Given the description of an element on the screen output the (x, y) to click on. 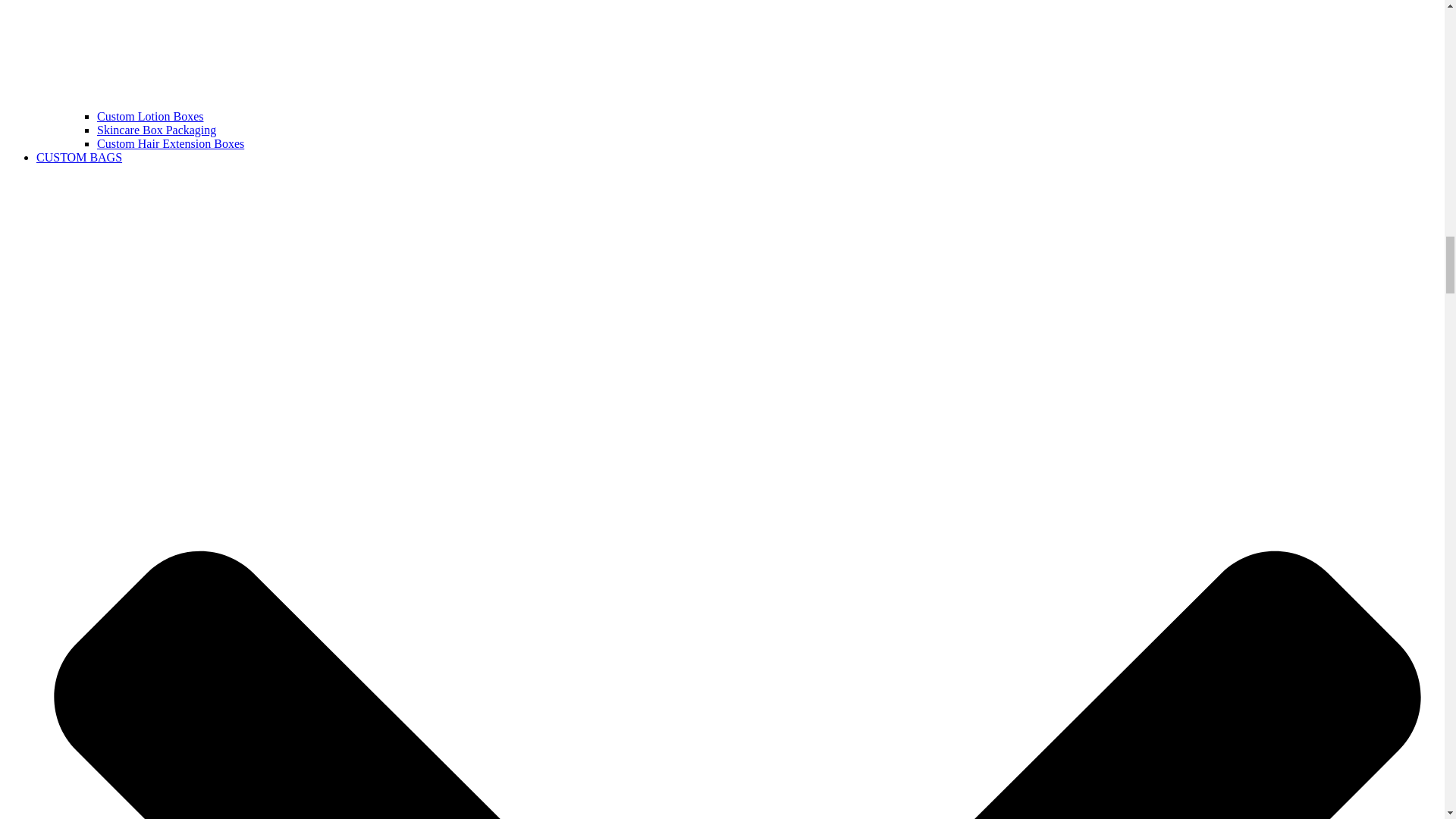
Custom Lotion Boxes (150, 115)
Skincare Box Packaging (156, 129)
Custom Hair Extension Boxes (170, 143)
